Given the description of an element on the screen output the (x, y) to click on. 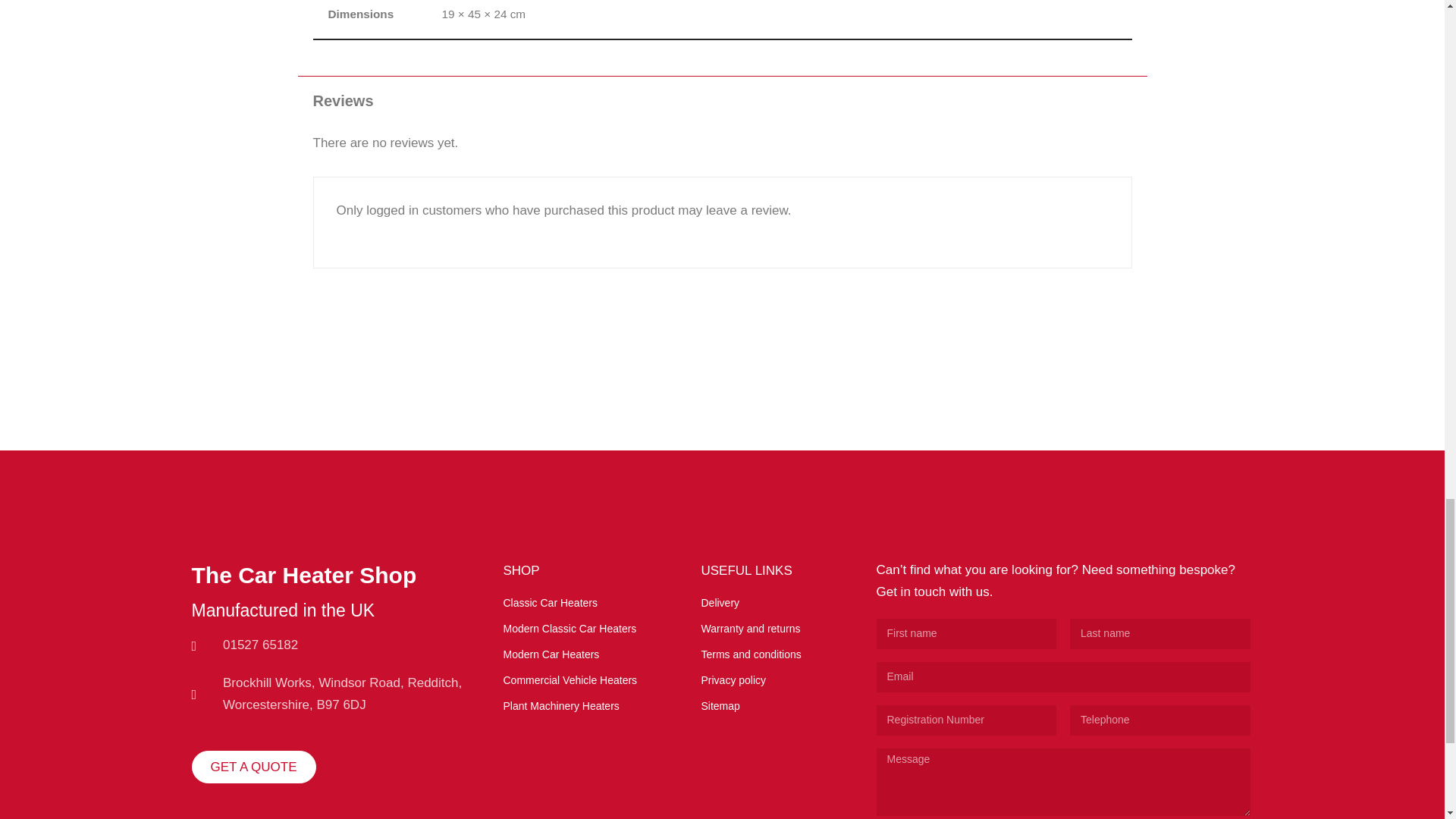
GET A QUOTE (252, 766)
Classic Car Heaters (579, 603)
Warranty and returns (776, 628)
Delivery (776, 603)
Plant Machinery Heaters (579, 706)
Commercial Vehicle Heaters (579, 680)
Modern Classic Car Heaters (579, 628)
Modern Car Heaters (579, 654)
